Given the description of an element on the screen output the (x, y) to click on. 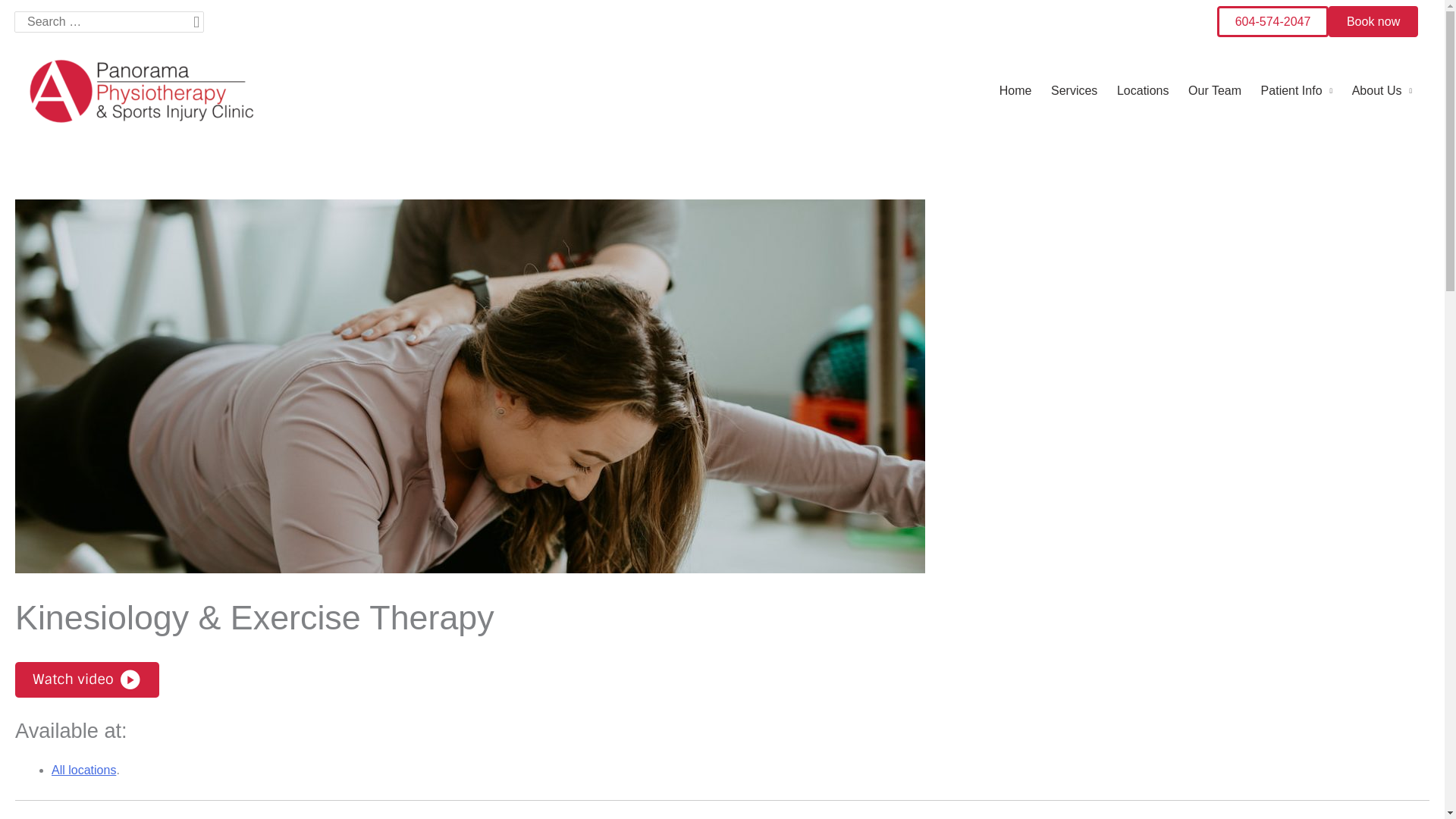
604-574-2047 (1272, 20)
All locations (83, 769)
About Us (1380, 90)
Services (1073, 90)
Patient Info (1296, 90)
Book now (1372, 20)
Locations (1141, 90)
Our Team (1213, 90)
Home (1015, 90)
